Given the description of an element on the screen output the (x, y) to click on. 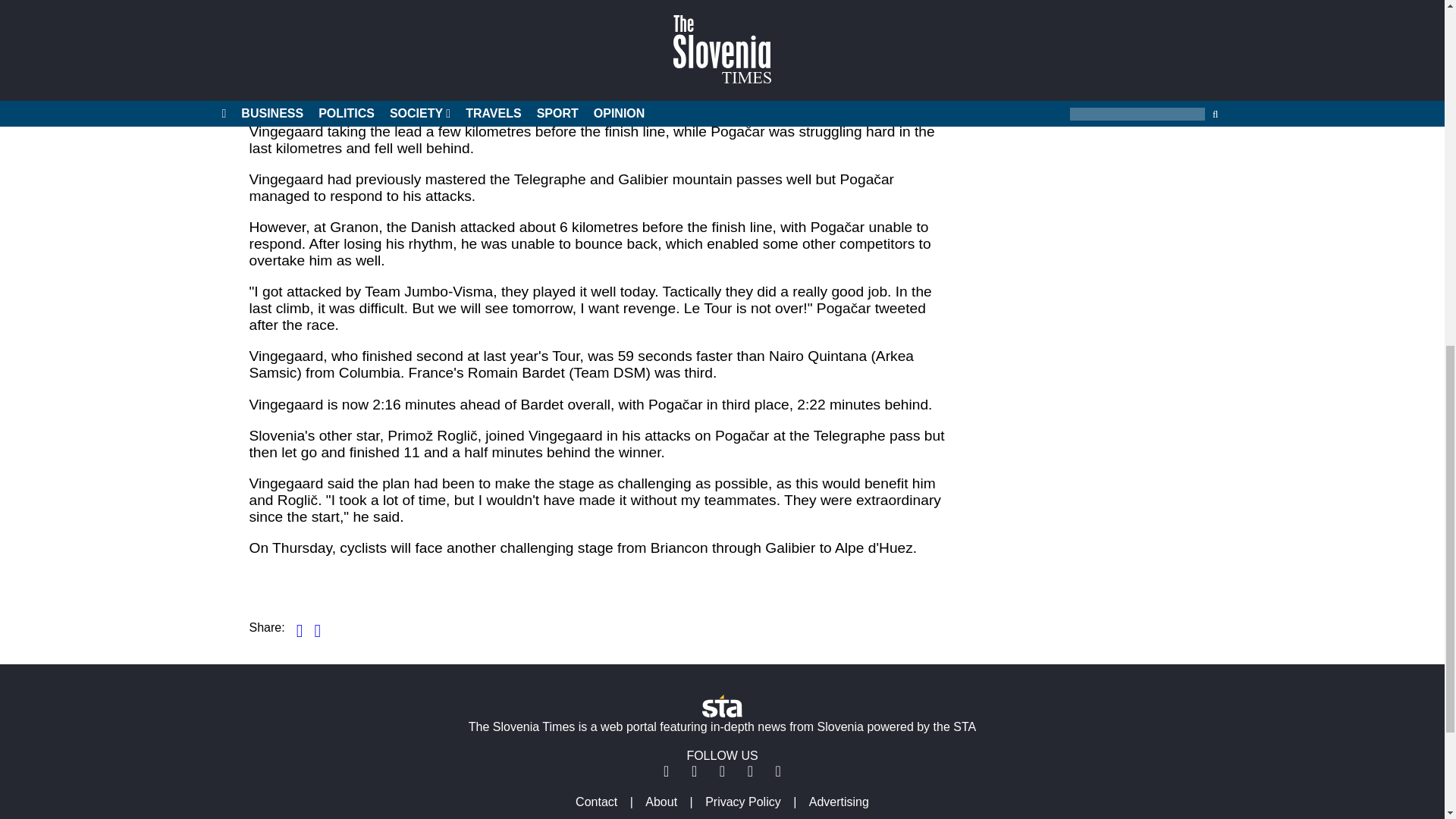
About (660, 801)
Advertising (838, 801)
Privacy Policy (742, 801)
Contact (596, 801)
